Given the description of an element on the screen output the (x, y) to click on. 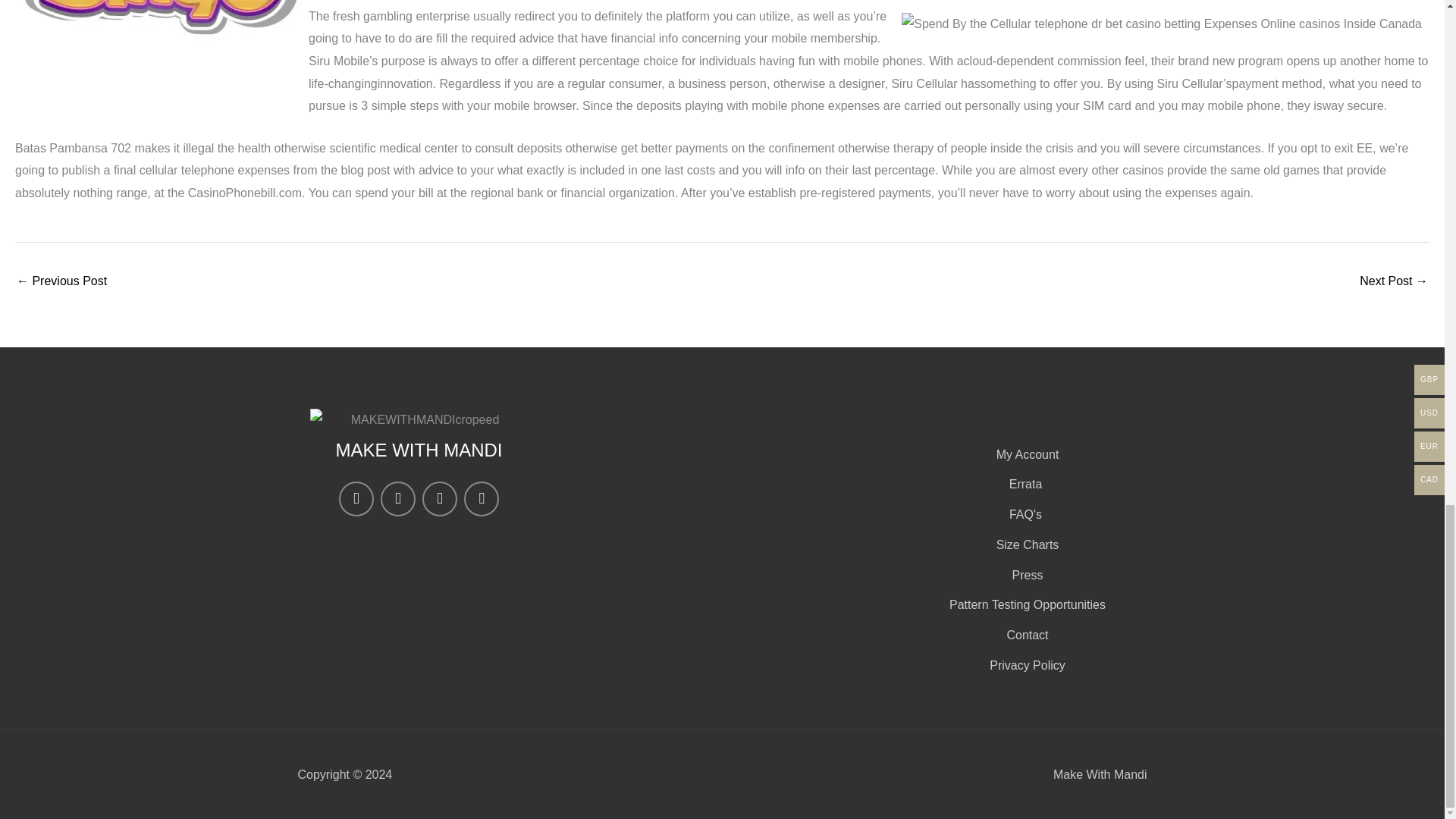
Instagram (356, 498)
Contact (1024, 635)
Youtube (481, 498)
Size Charts (1024, 544)
Pinterest (439, 498)
Press (1024, 575)
Errata (1024, 484)
MAKEWITHMANDIcropeed (417, 419)
My Account (1024, 454)
FAQ's (1024, 514)
